Given the description of an element on the screen output the (x, y) to click on. 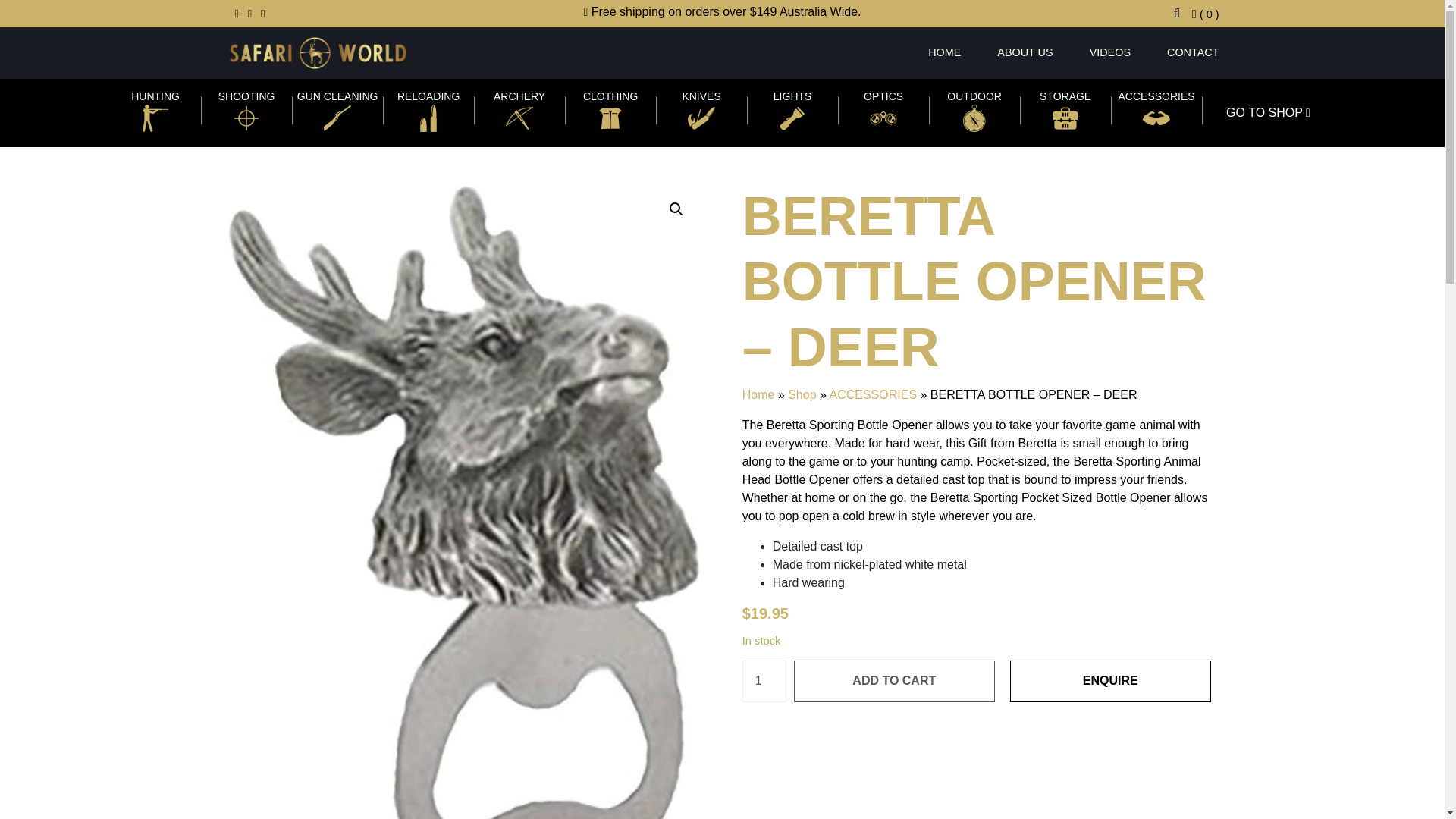
OUTDOOR (974, 109)
ABOUT US (1024, 52)
Videos (1109, 52)
Search (932, 25)
ACCESSORIES (1156, 109)
GUN CLEANING (337, 109)
1 (764, 680)
Qty (764, 680)
ARCHERY (519, 109)
RELOADING (428, 109)
Contact (1183, 52)
About us (1024, 52)
HOME (944, 52)
KNIVES (701, 109)
LIGHTS (792, 109)
